Given the description of an element on the screen output the (x, y) to click on. 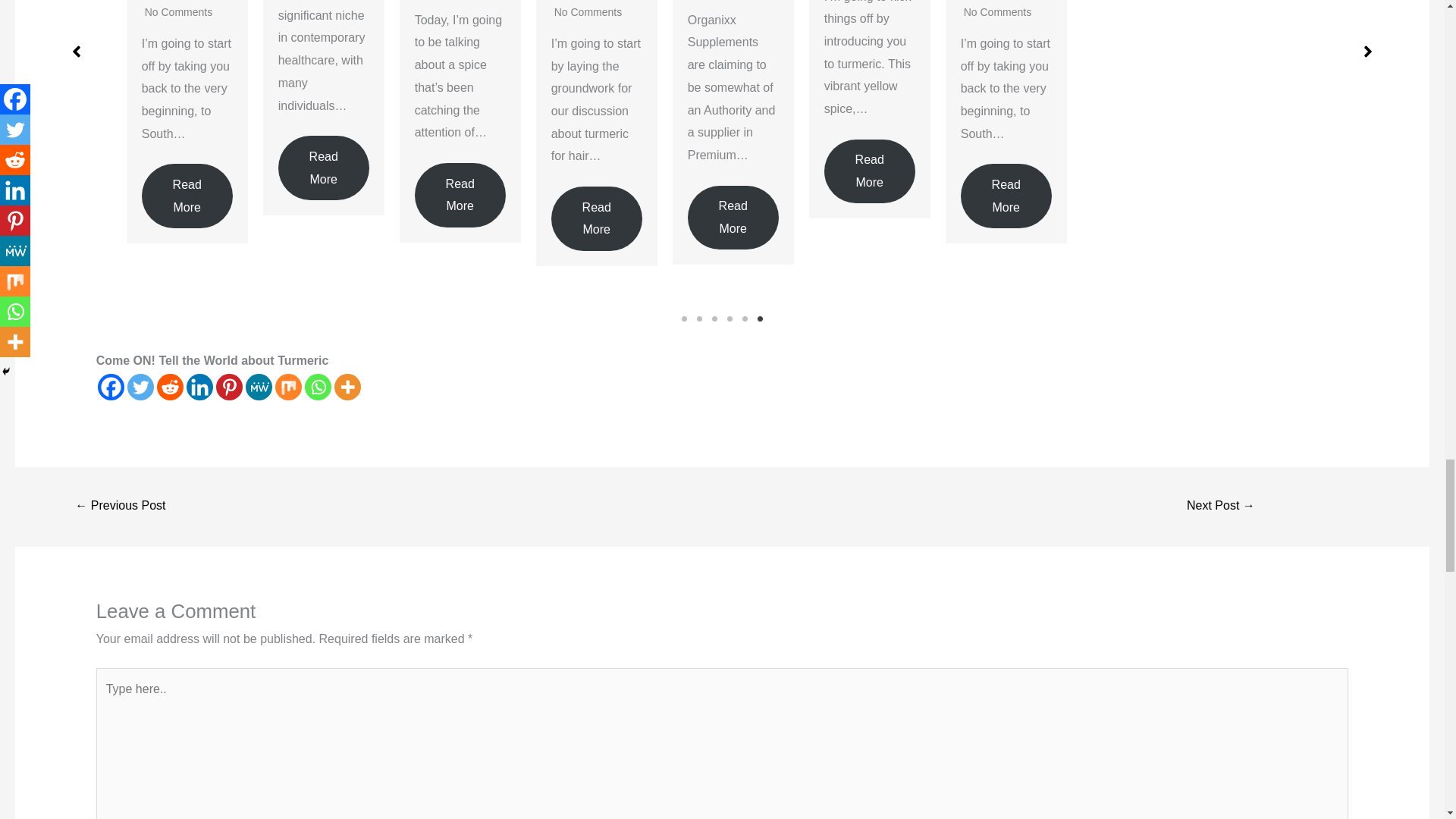
More (347, 386)
Facebook (110, 386)
Twitter (141, 386)
MeWe (259, 386)
Mix (288, 386)
Whatsapp (317, 386)
Linkedin (199, 386)
Pinterest (229, 386)
Reddit (170, 386)
